Given the description of an element on the screen output the (x, y) to click on. 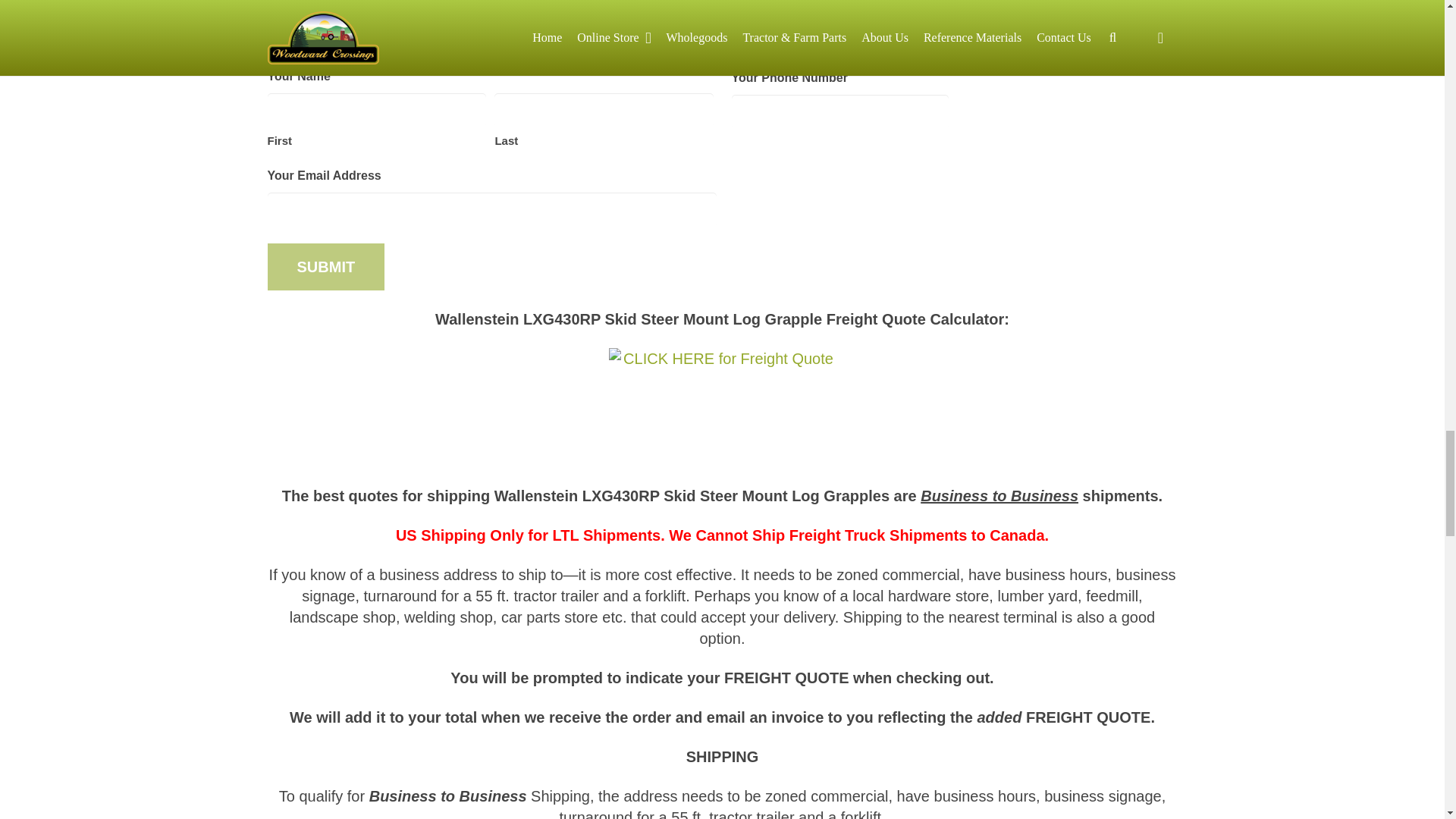
Submit (325, 266)
